Given the description of an element on the screen output the (x, y) to click on. 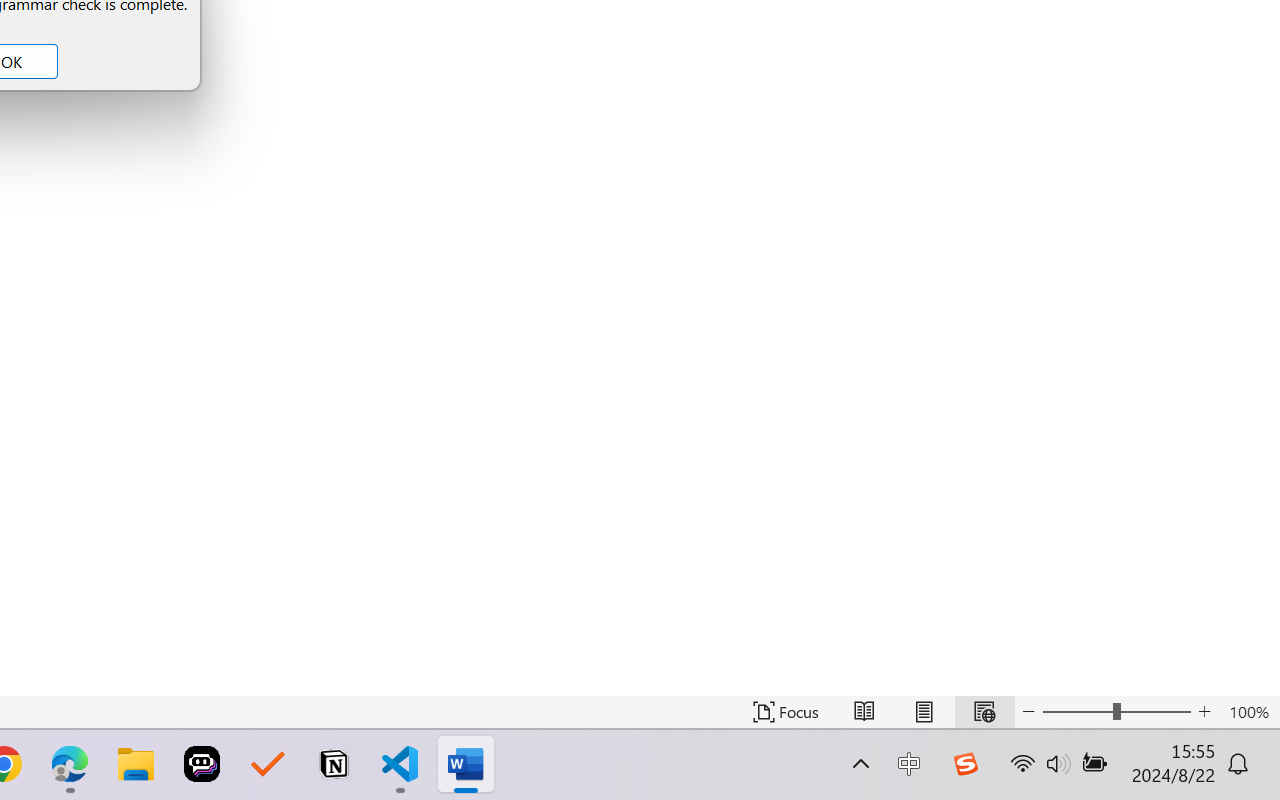
Read Mode (864, 712)
Print Layout (924, 712)
Focus  (786, 712)
Notion (333, 764)
Zoom Out (1077, 712)
Zoom (1116, 712)
Zoom 100% (1249, 712)
